Given the description of an element on the screen output the (x, y) to click on. 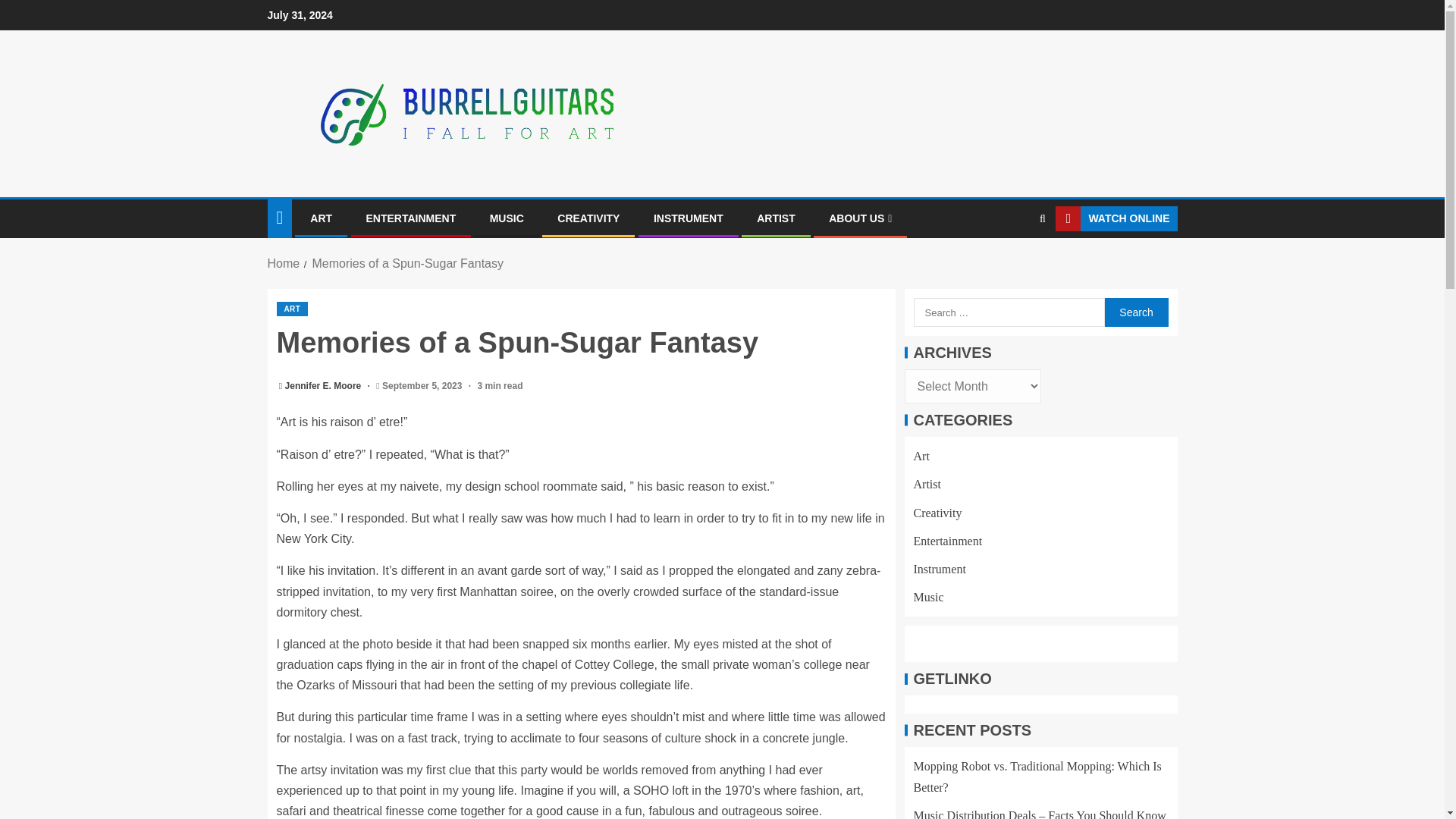
ARTIST (775, 218)
ART (291, 309)
Memories of a Spun-Sugar Fantasy (407, 263)
WATCH ONLINE (1115, 218)
Search (1013, 265)
CREATIVITY (588, 218)
Search (1135, 312)
MUSIC (506, 218)
INSTRUMENT (688, 218)
Jennifer E. Moore (324, 385)
ENTERTAINMENT (410, 218)
Home (282, 263)
ABOUT US (859, 218)
Search (1135, 312)
ART (320, 218)
